Given the description of an element on the screen output the (x, y) to click on. 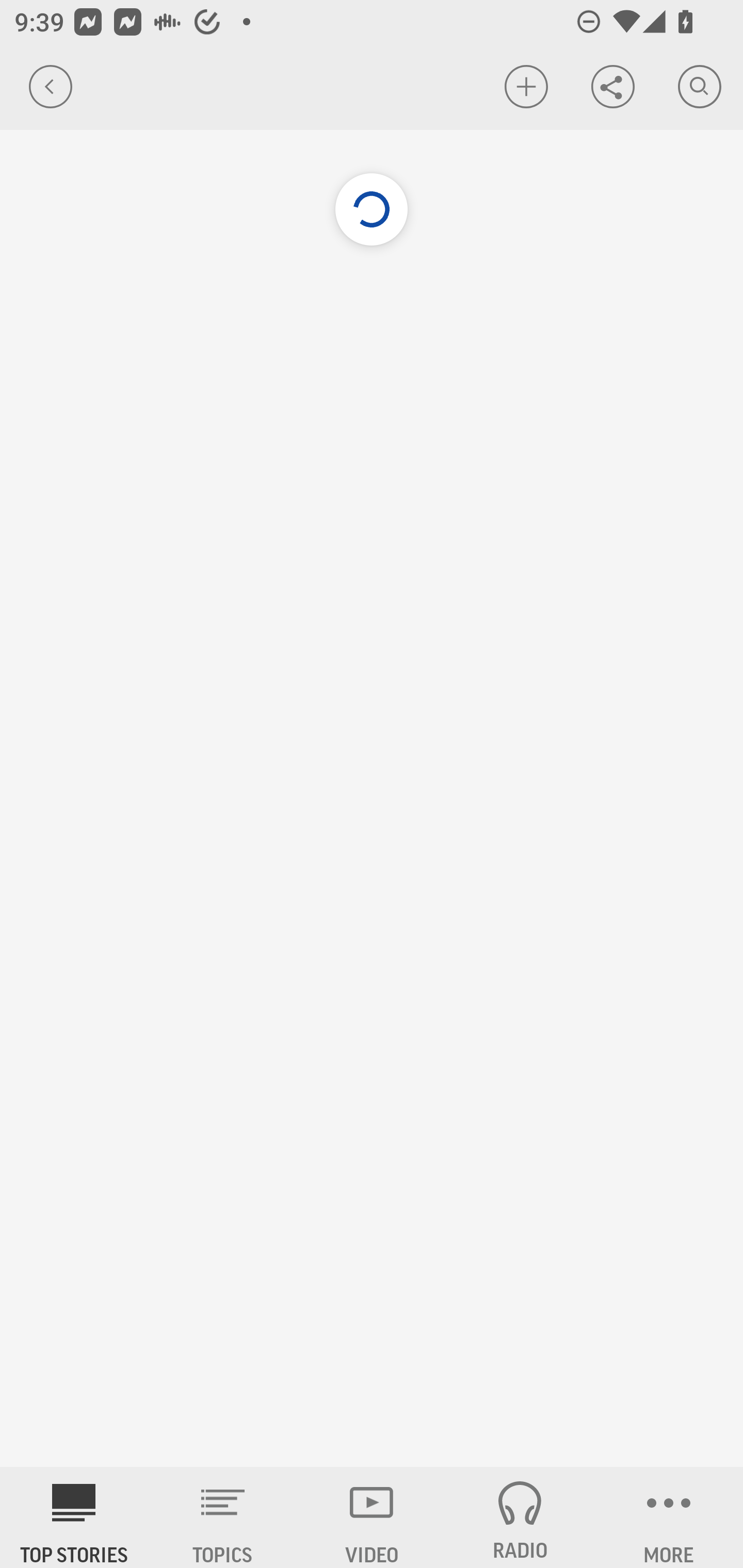
AP News TOP STORIES (74, 1517)
TOPICS (222, 1517)
VIDEO (371, 1517)
RADIO (519, 1517)
MORE (668, 1517)
